Given the description of an element on the screen output the (x, y) to click on. 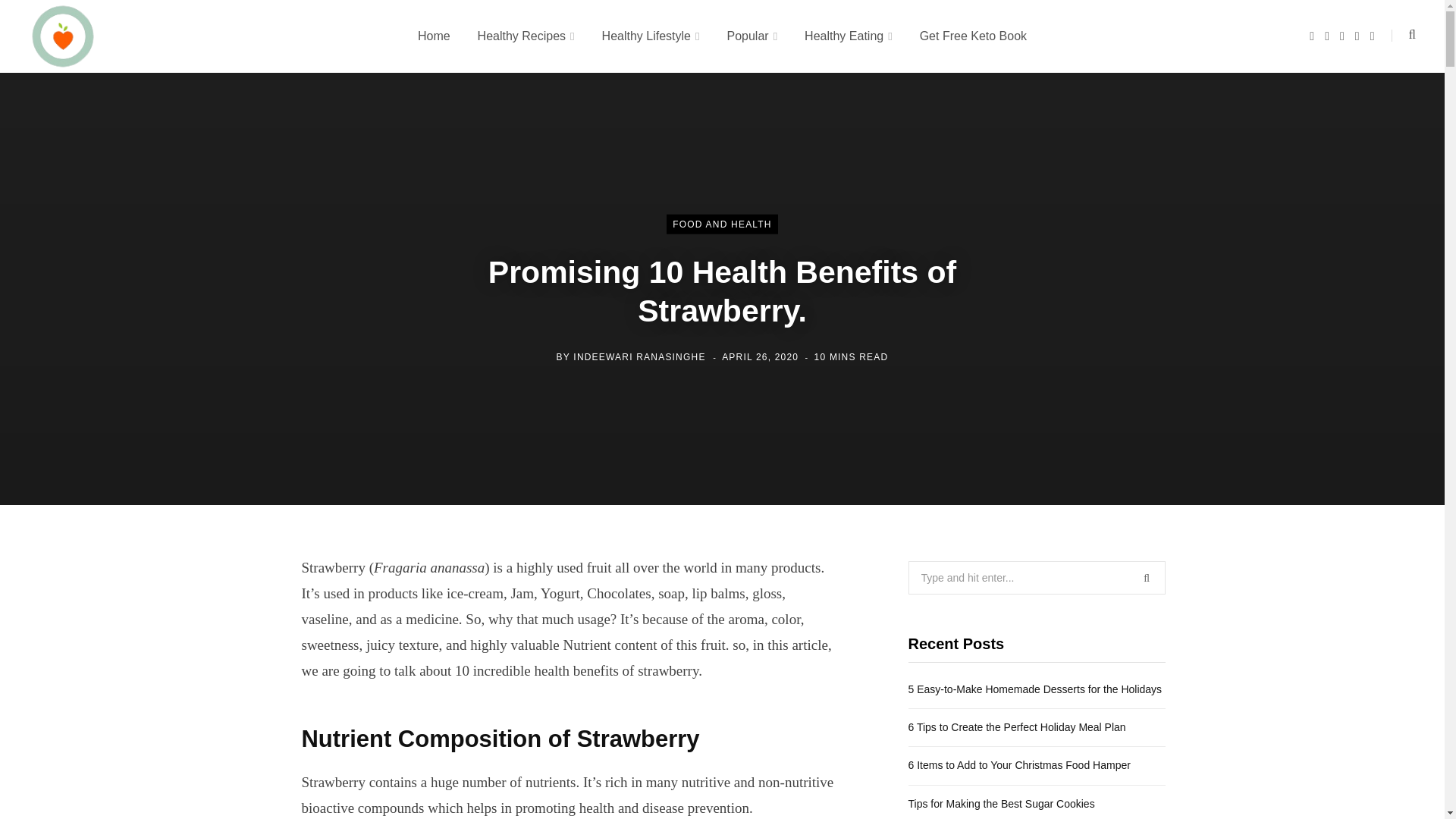
Healthy Recipes (526, 36)
Healthy Lifestyle (650, 36)
Wizfoodz (63, 36)
